Given the description of an element on the screen output the (x, y) to click on. 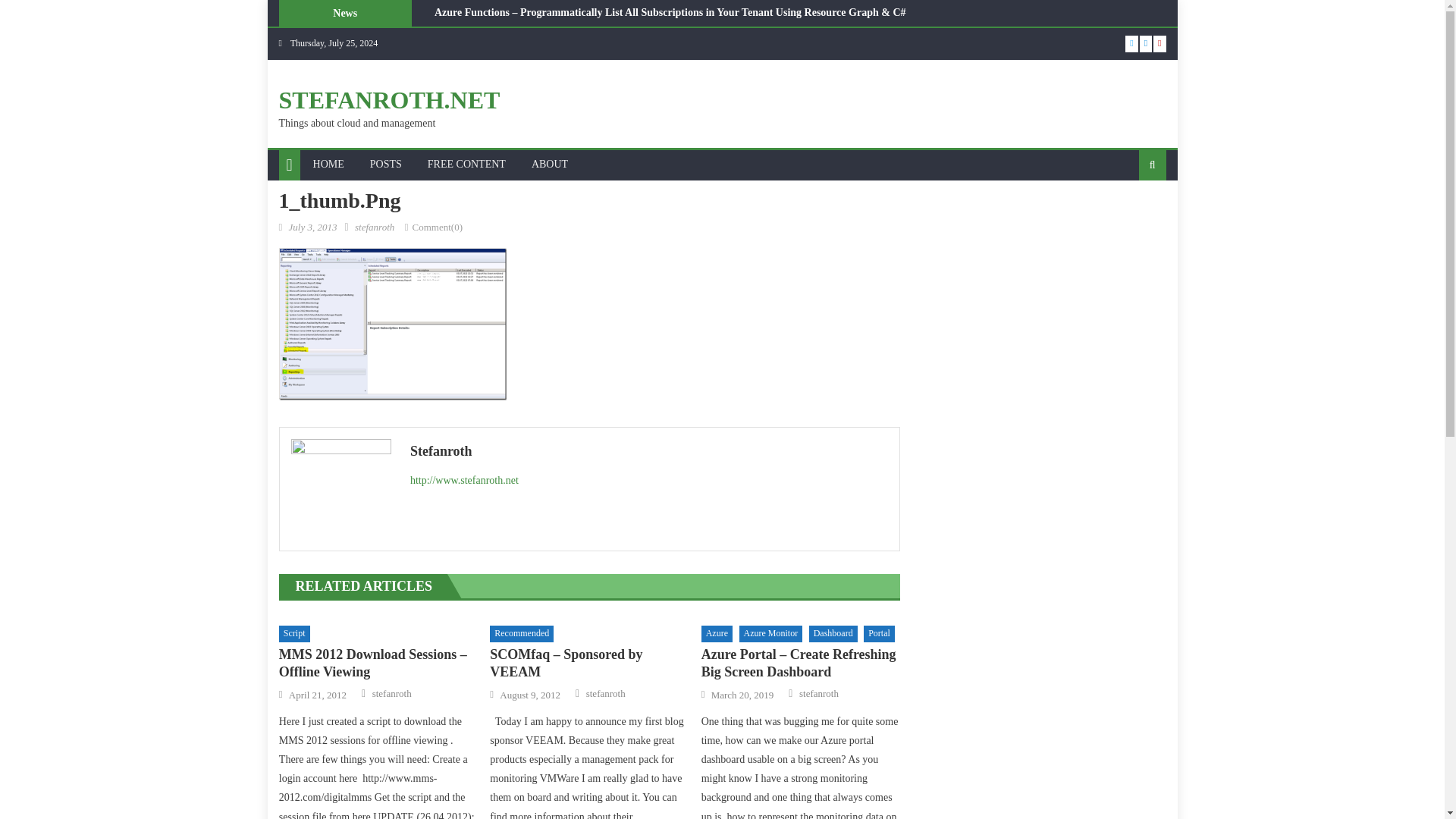
Azure (716, 633)
stefanroth (606, 694)
stefanroth (392, 694)
Stefanroth (649, 450)
stefanroth (374, 226)
STEFANROTH.NET (389, 99)
July 3, 2013 (312, 226)
Script (294, 633)
ABOUT (549, 164)
Dashboard (833, 633)
Azure Monitor (770, 633)
Search (1128, 214)
FREE CONTENT (466, 164)
HOME (328, 164)
POSTS (385, 164)
